Given the description of an element on the screen output the (x, y) to click on. 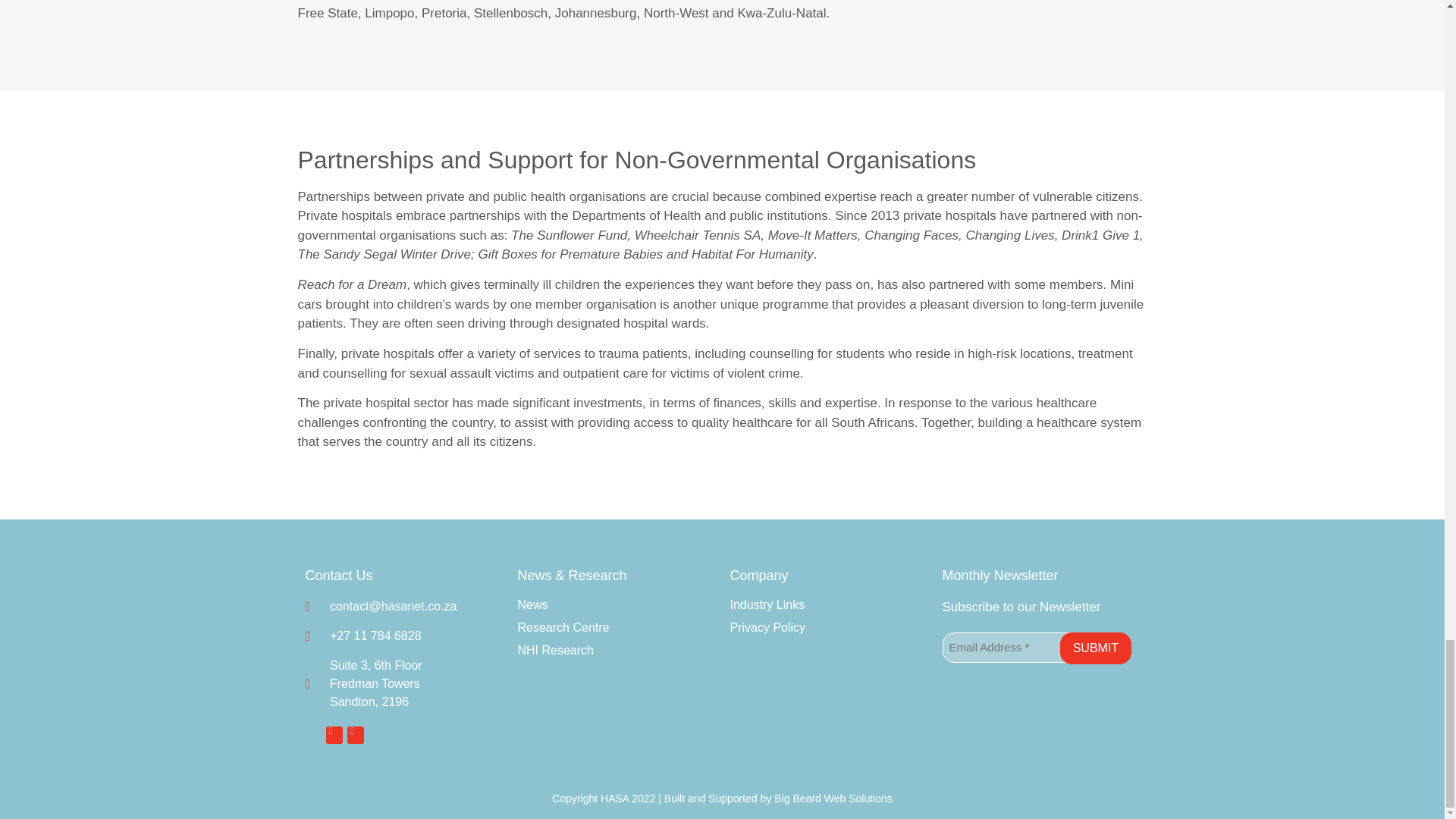
Submit (1095, 648)
